Given the description of an element on the screen output the (x, y) to click on. 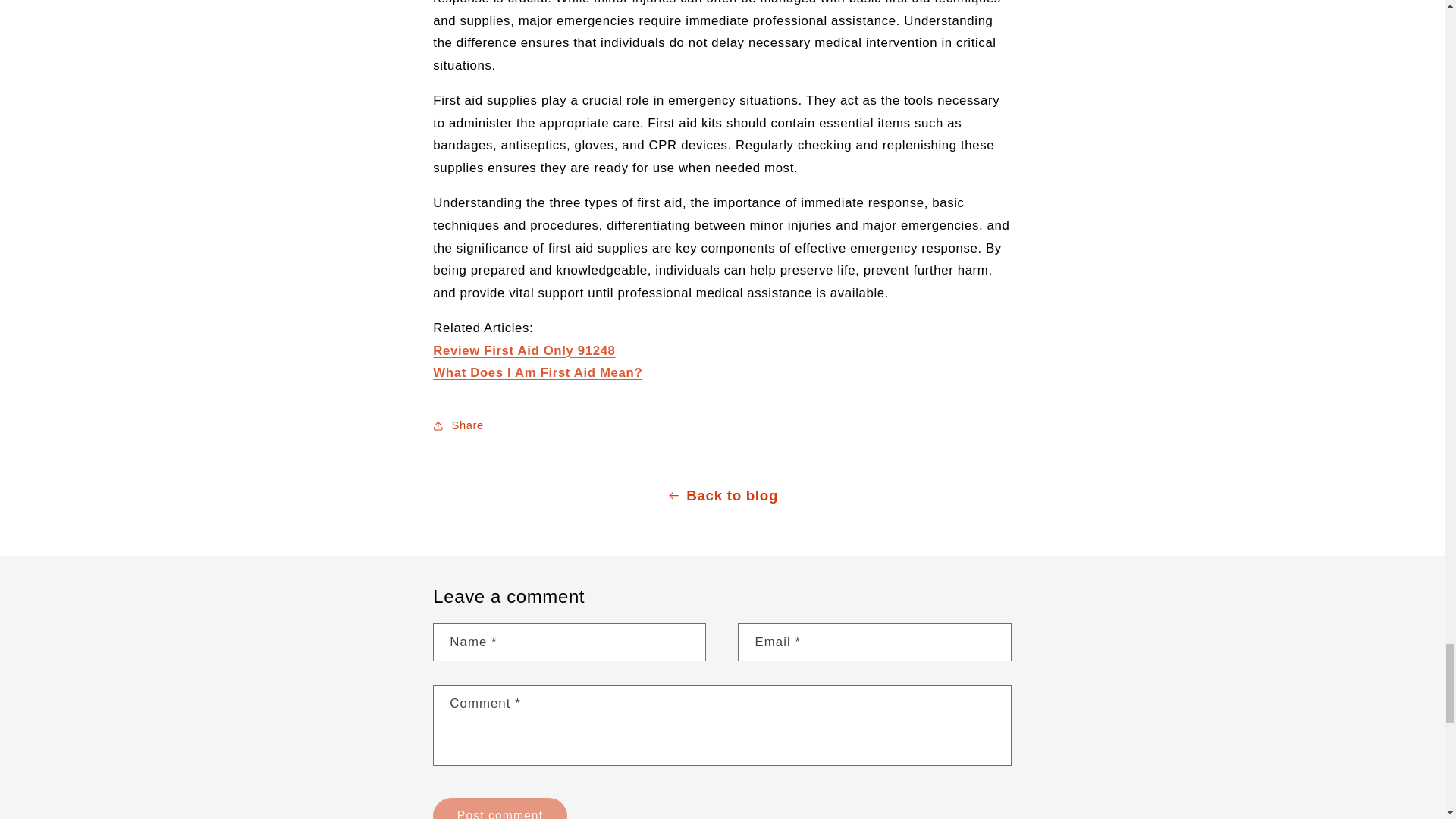
Review First Aid Only 91248 (523, 350)
Post comment (499, 808)
What Does I Am First Aid Mean? (537, 372)
